Given the description of an element on the screen output the (x, y) to click on. 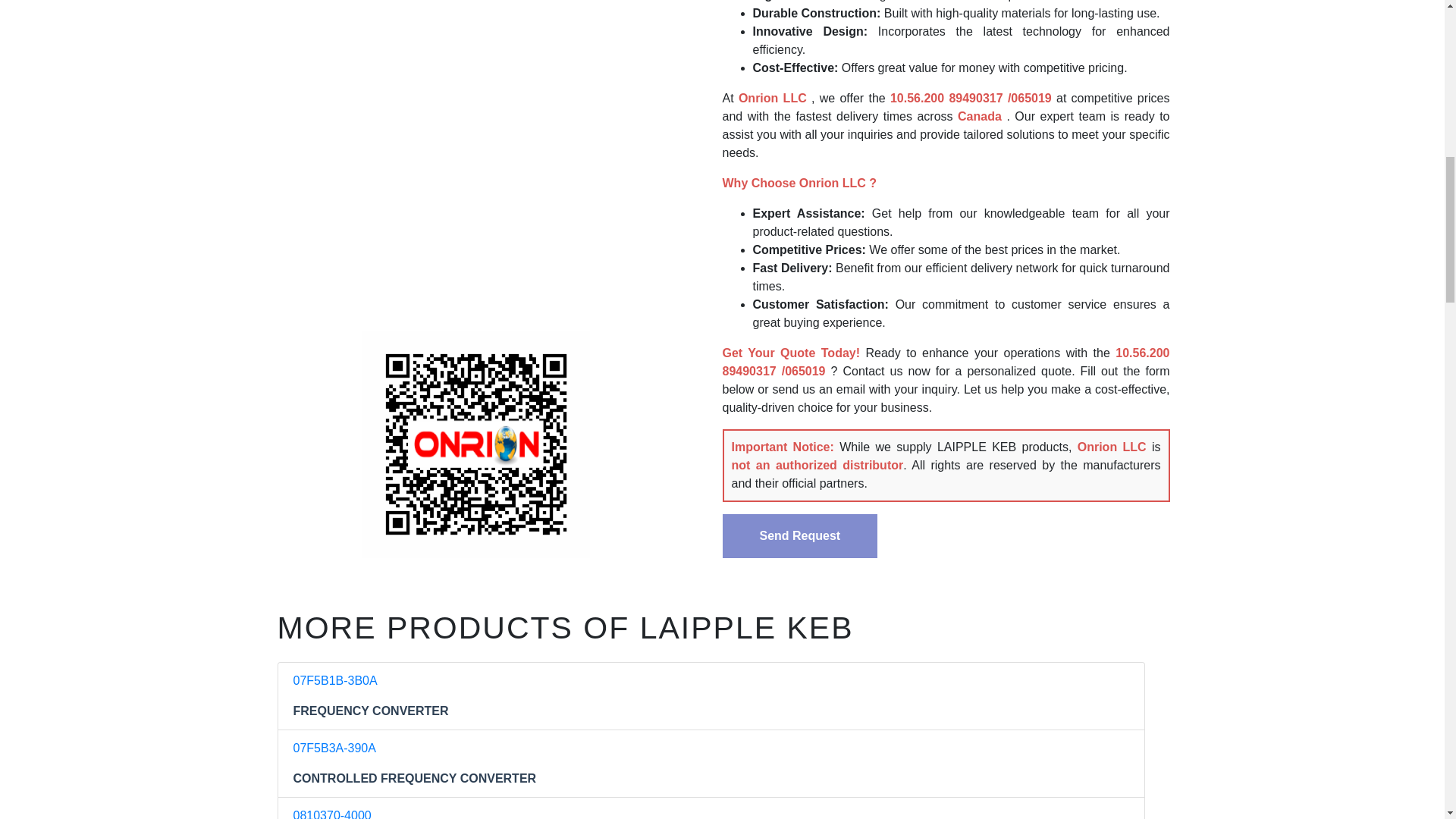
0810370-4000 (331, 814)
07F5B3A-390A (333, 748)
Send Request (799, 535)
07F5B1B-3B0A (334, 680)
